Given the description of an element on the screen output the (x, y) to click on. 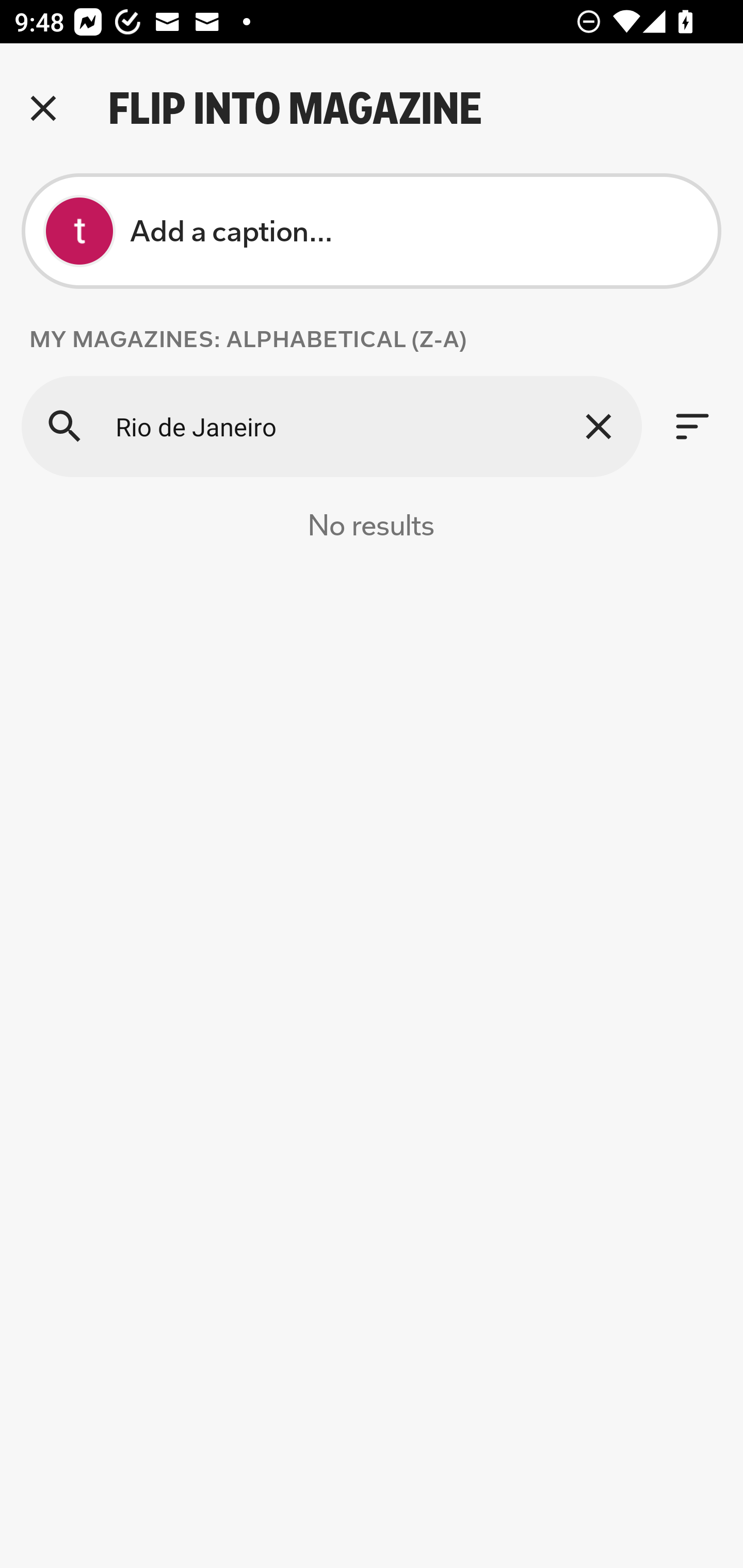
test appium Add a caption… (371, 231)
Rio de Janeiro Search (331, 426)
